Given the description of an element on the screen output the (x, y) to click on. 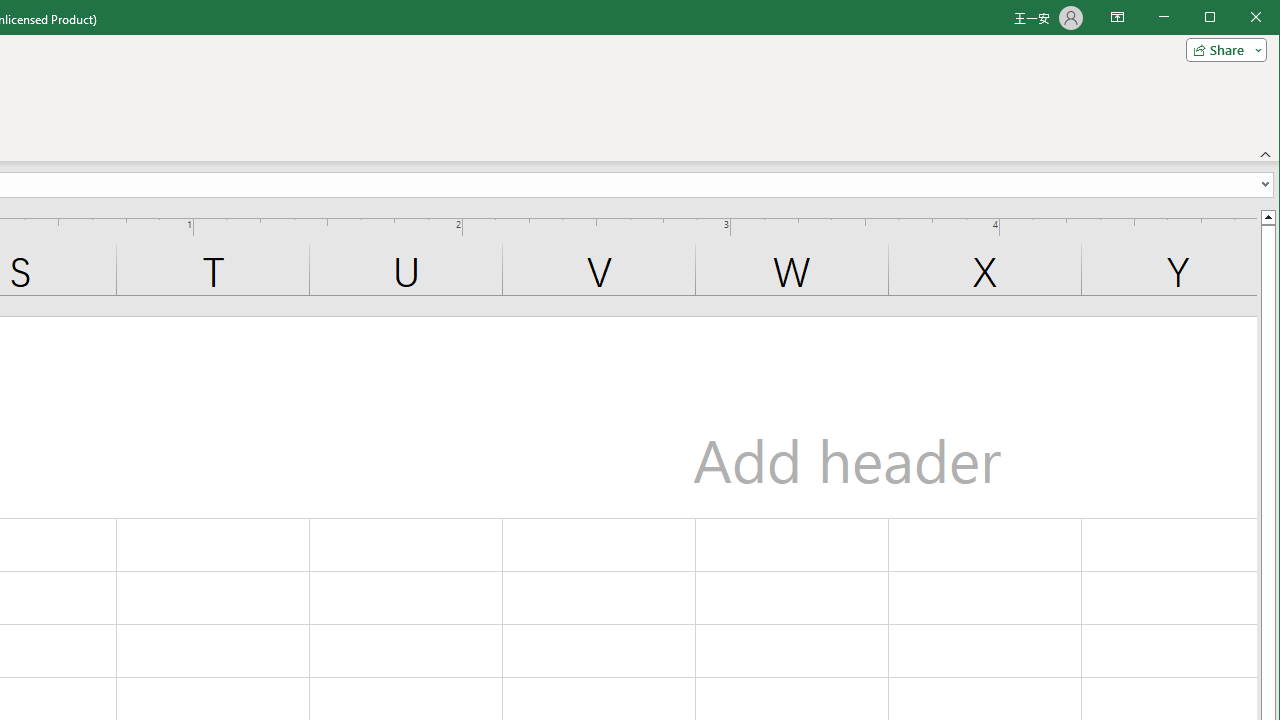
Share (1222, 49)
Close (1261, 18)
Minimize (1216, 18)
Maximize (1238, 18)
Line up (1268, 216)
Collapse the Ribbon (1266, 154)
Ribbon Display Options (1117, 17)
